Given the description of an element on the screen output the (x, y) to click on. 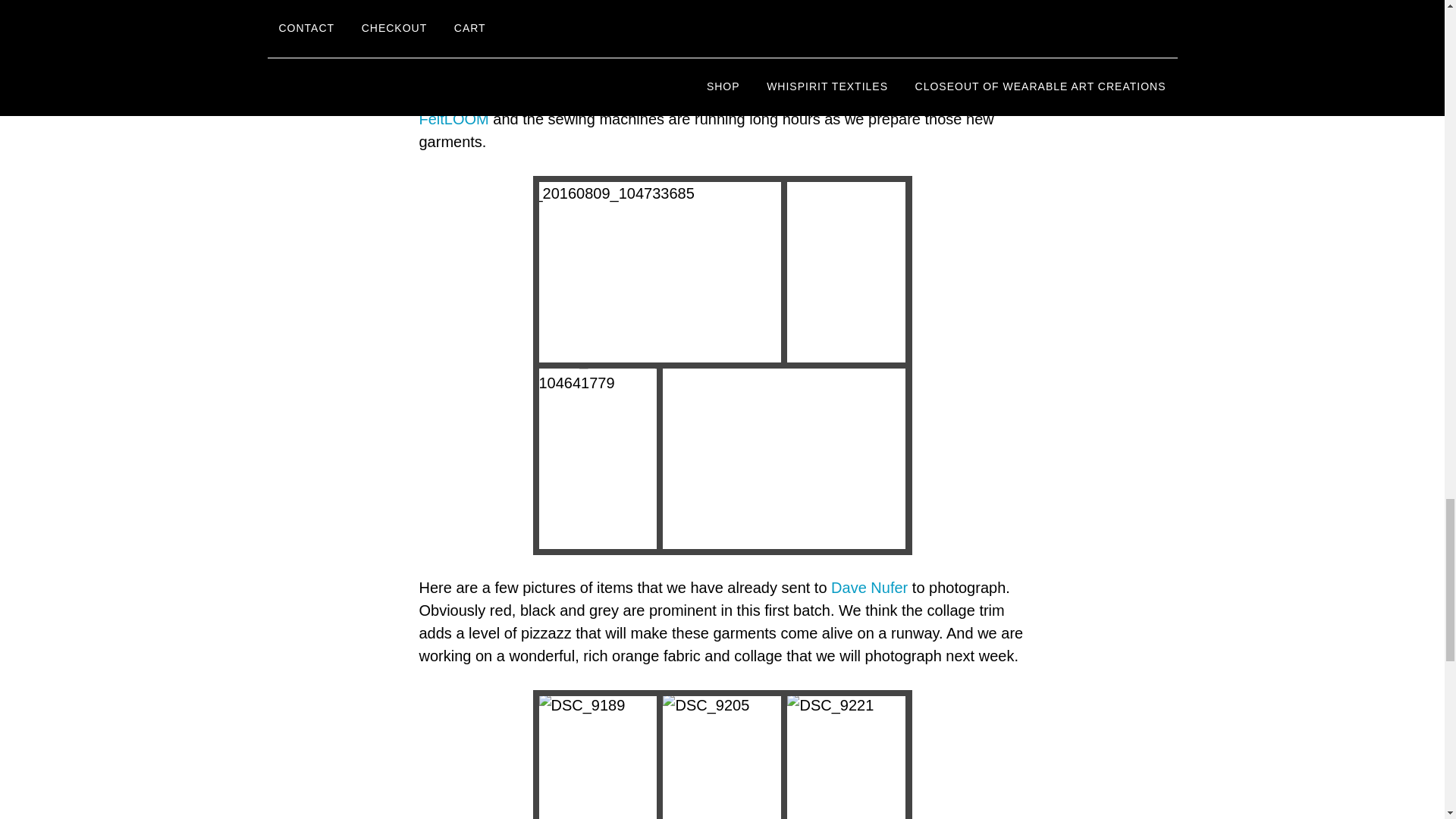
Dave Nufer (869, 587)
FeltLOOM (453, 118)
Western Design Conference (713, 50)
